Given the description of an element on the screen output the (x, y) to click on. 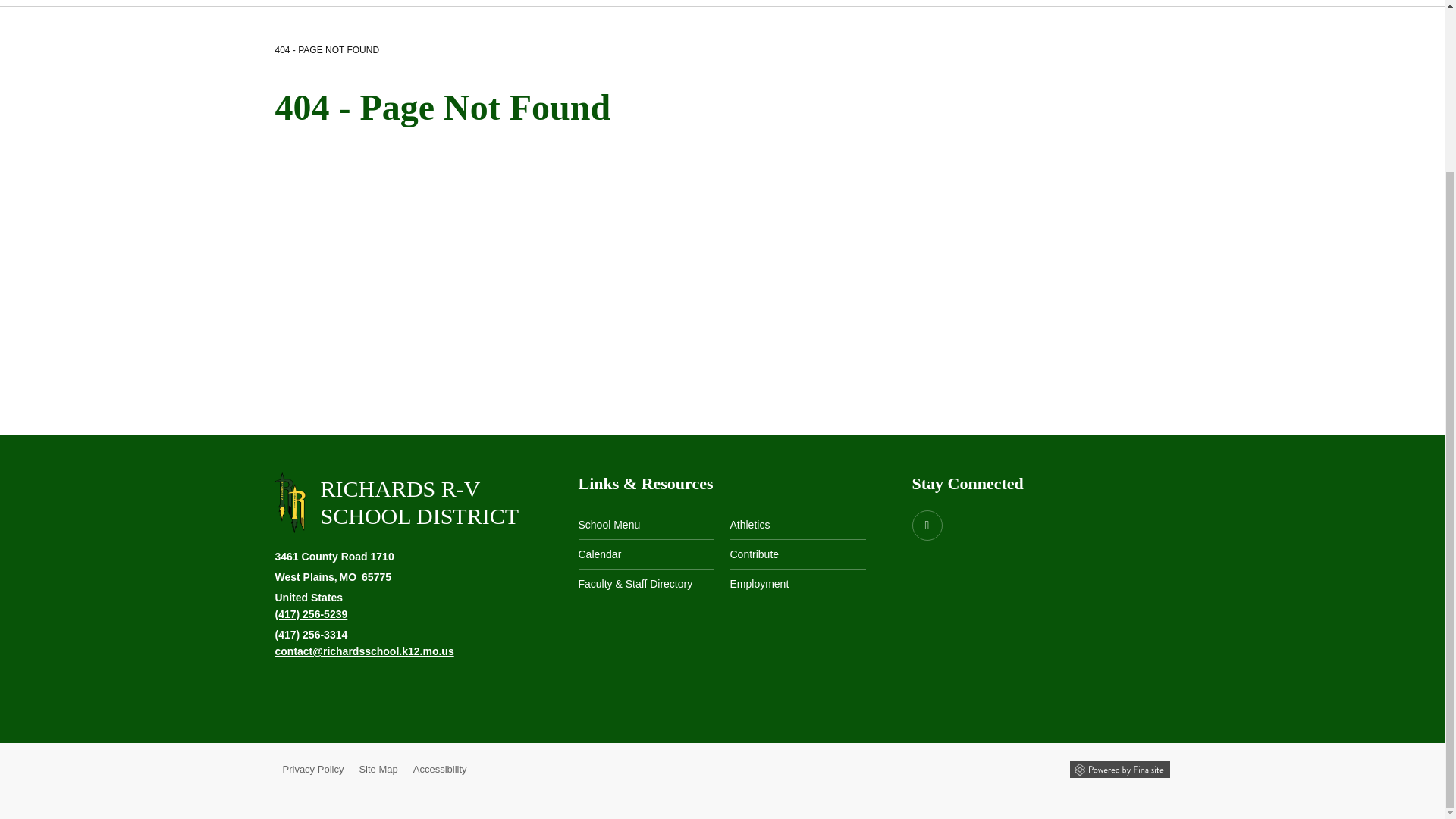
Powered by Finalsite opens in a new window (1118, 769)
Email (363, 651)
